Given the description of an element on the screen output the (x, y) to click on. 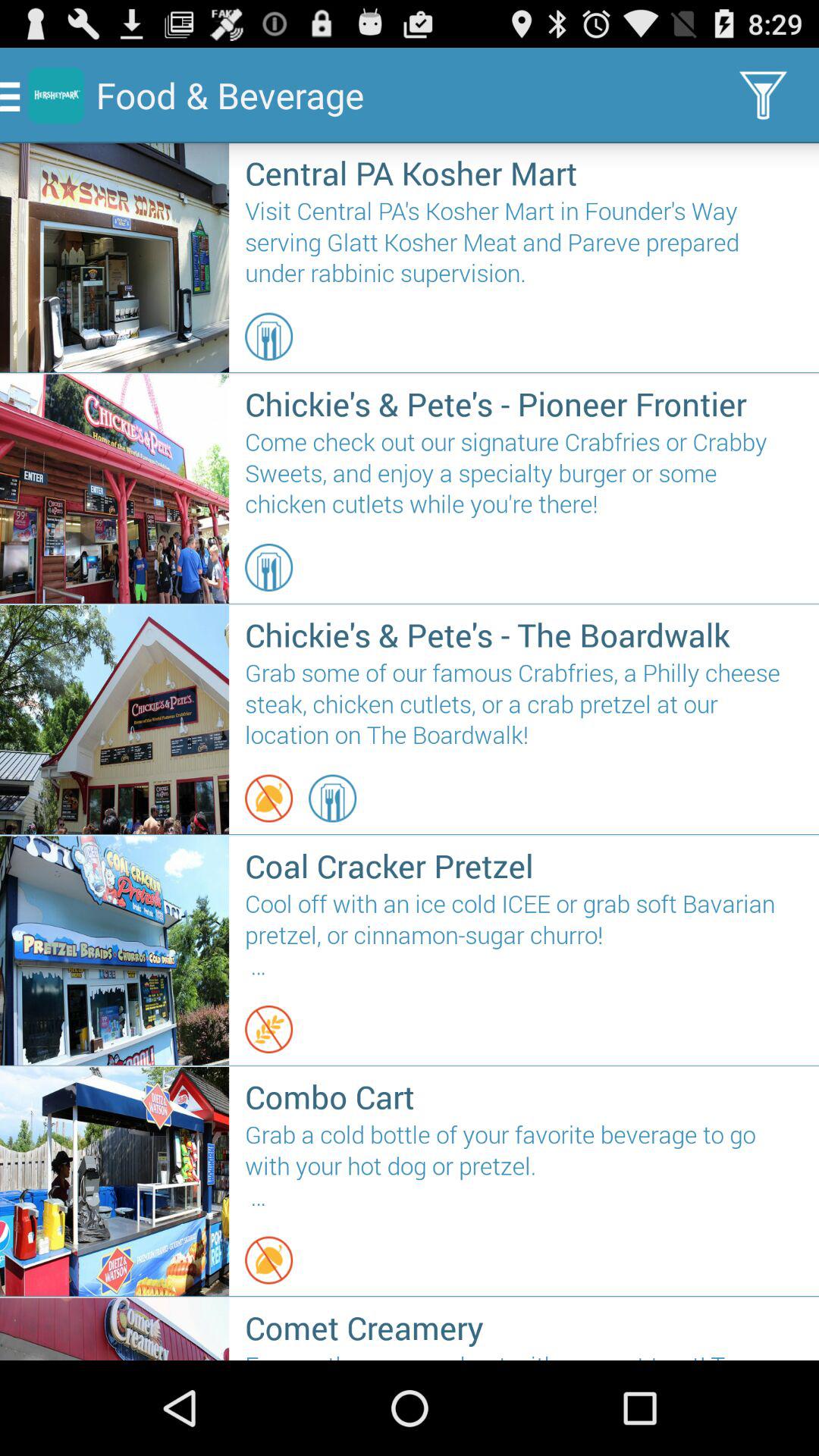
press the icon below grab some of icon (332, 798)
